Given the description of an element on the screen output the (x, y) to click on. 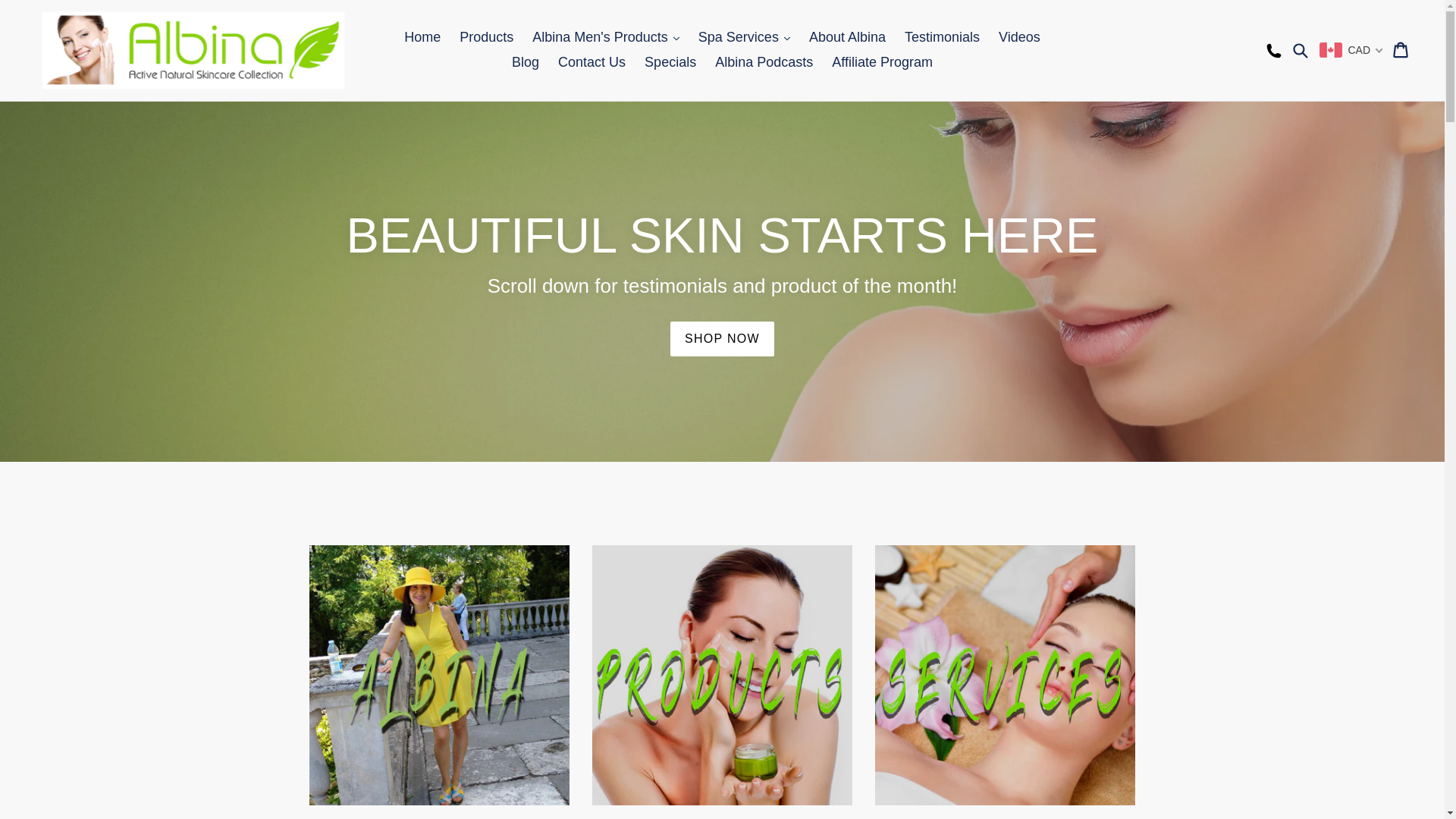
About Albina Element type: text (847, 37)
Cart
Cart Element type: text (1401, 49)
Home Element type: text (422, 37)
Albina Podcasts Element type: text (763, 62)
Products Element type: text (485, 37)
Blog Element type: text (525, 62)
Affiliate Program Element type: text (882, 62)
Contact Us Element type: text (591, 62)
SHOP NOW Element type: text (722, 338)
Testimonials Element type: text (942, 37)
Submit Element type: text (1299, 49)
Specials Element type: text (670, 62)
Videos Element type: text (1019, 37)
